Given the description of an element on the screen output the (x, y) to click on. 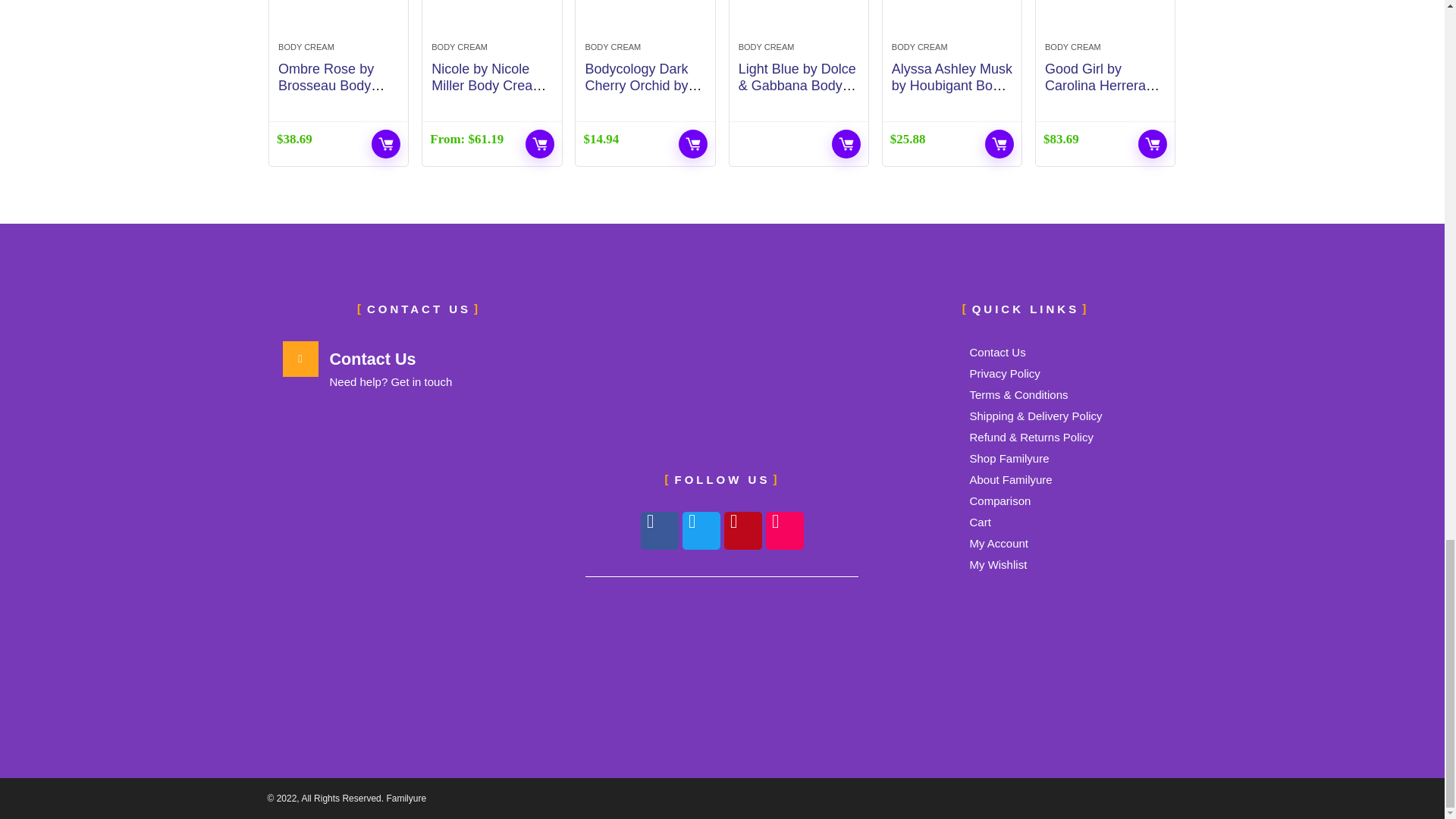
Ombre Rose by Brosseau Body Cream 6.7 oz For Women (331, 93)
BODY CREAM (306, 46)
ADD TO CART (385, 143)
